Given the description of an element on the screen output the (x, y) to click on. 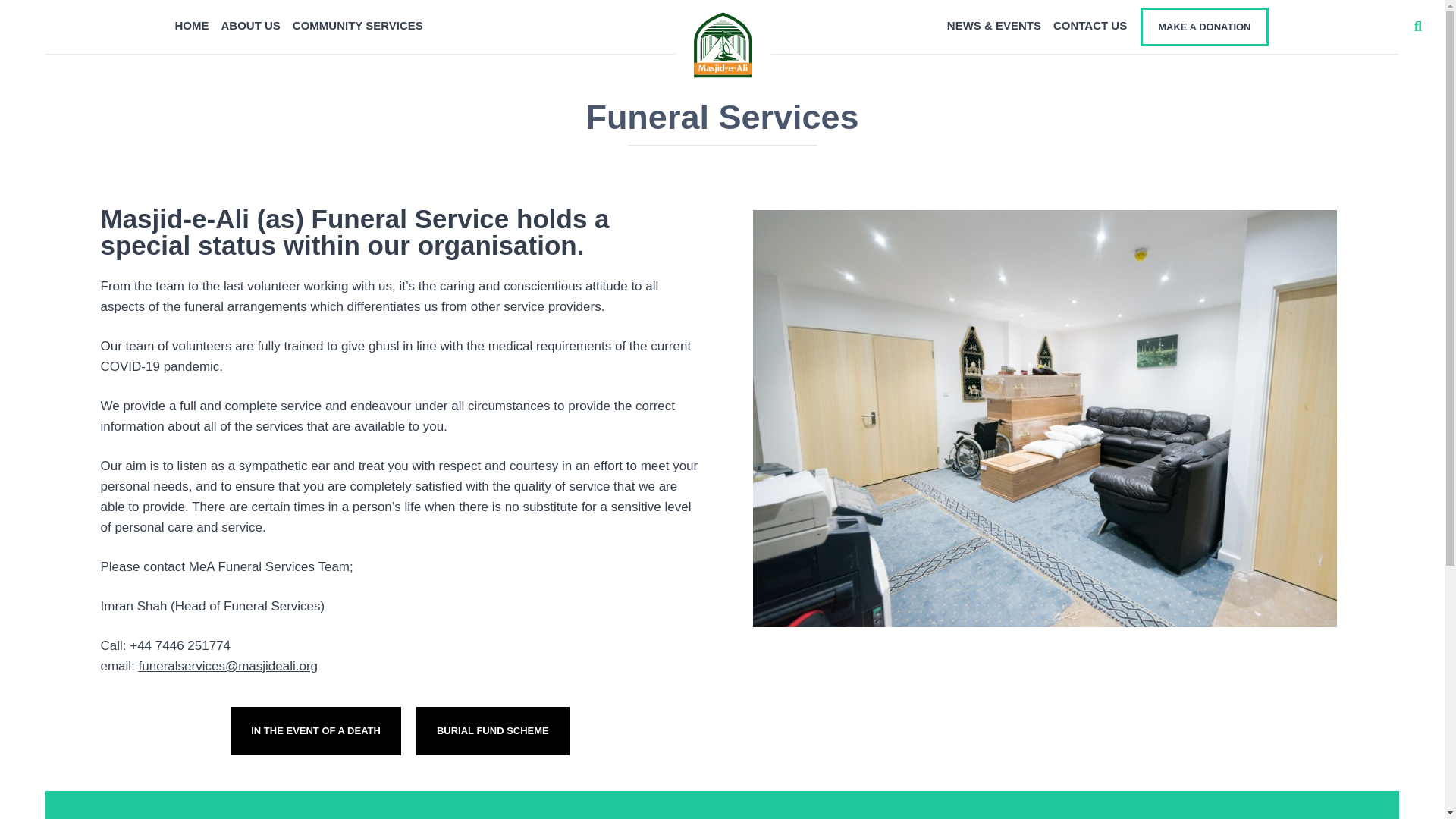
ABOUT US (250, 25)
COMMUNITY SERVICES (357, 25)
Burial Fund Scheme (492, 730)
In the event of a death (315, 730)
custom (635, 55)
HOME (191, 25)
CONTACT US (1089, 25)
Donate Now (566, 553)
MAKE A DONATION (1204, 26)
10.00 (555, 55)
